Given the description of an element on the screen output the (x, y) to click on. 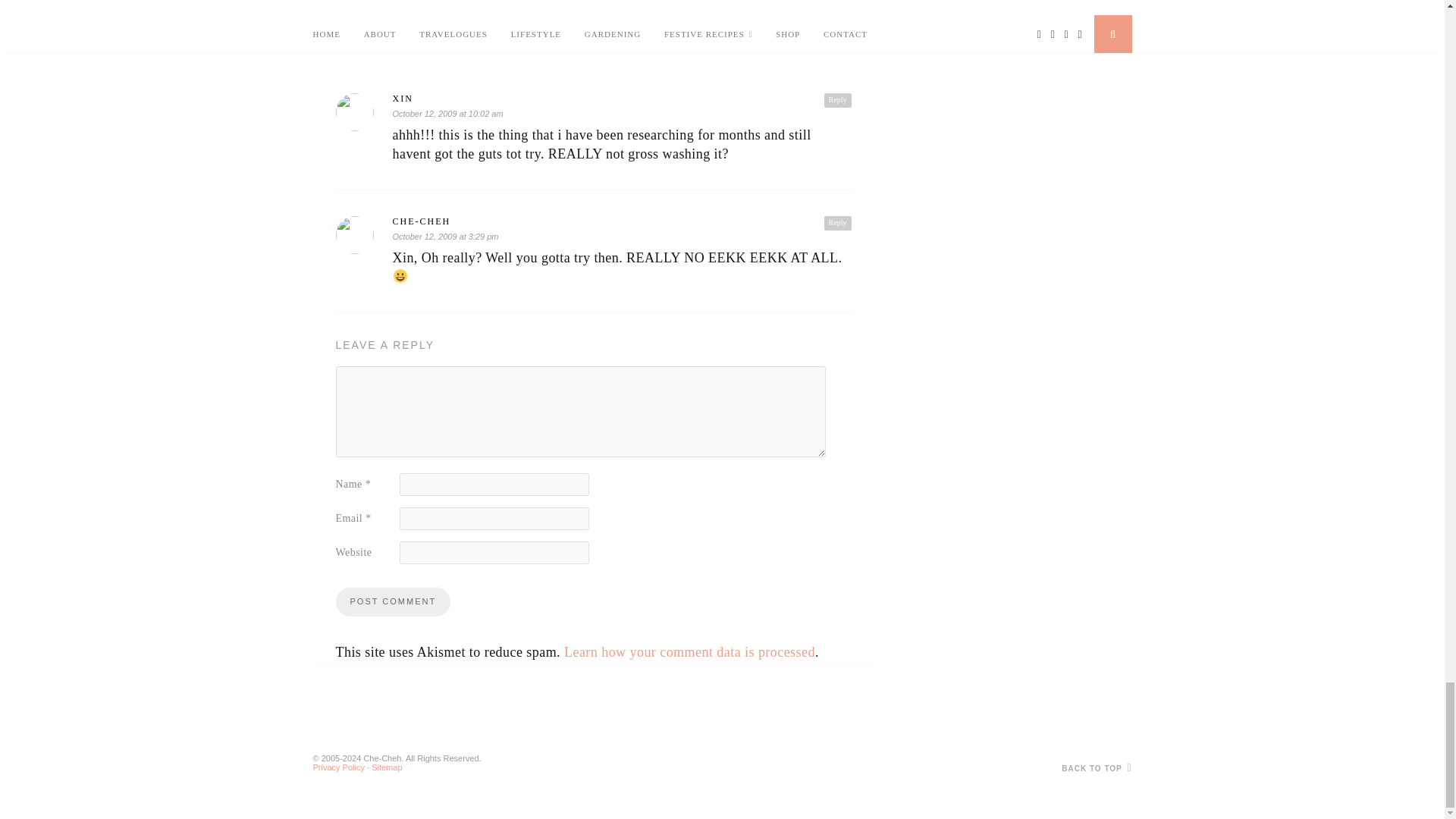
Post Comment (391, 602)
